Given the description of an element on the screen output the (x, y) to click on. 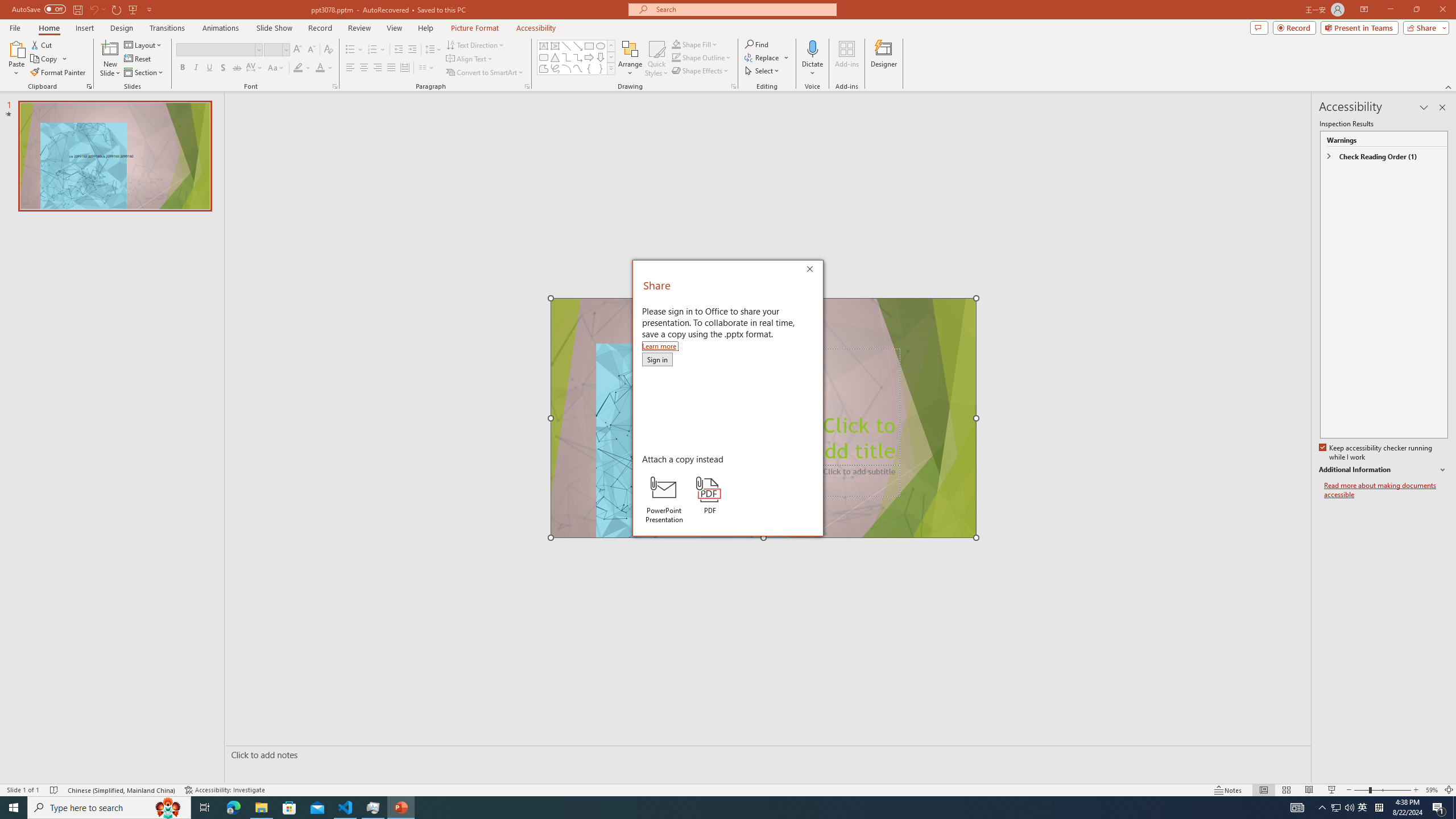
Sign in (657, 359)
